Given the description of an element on the screen output the (x, y) to click on. 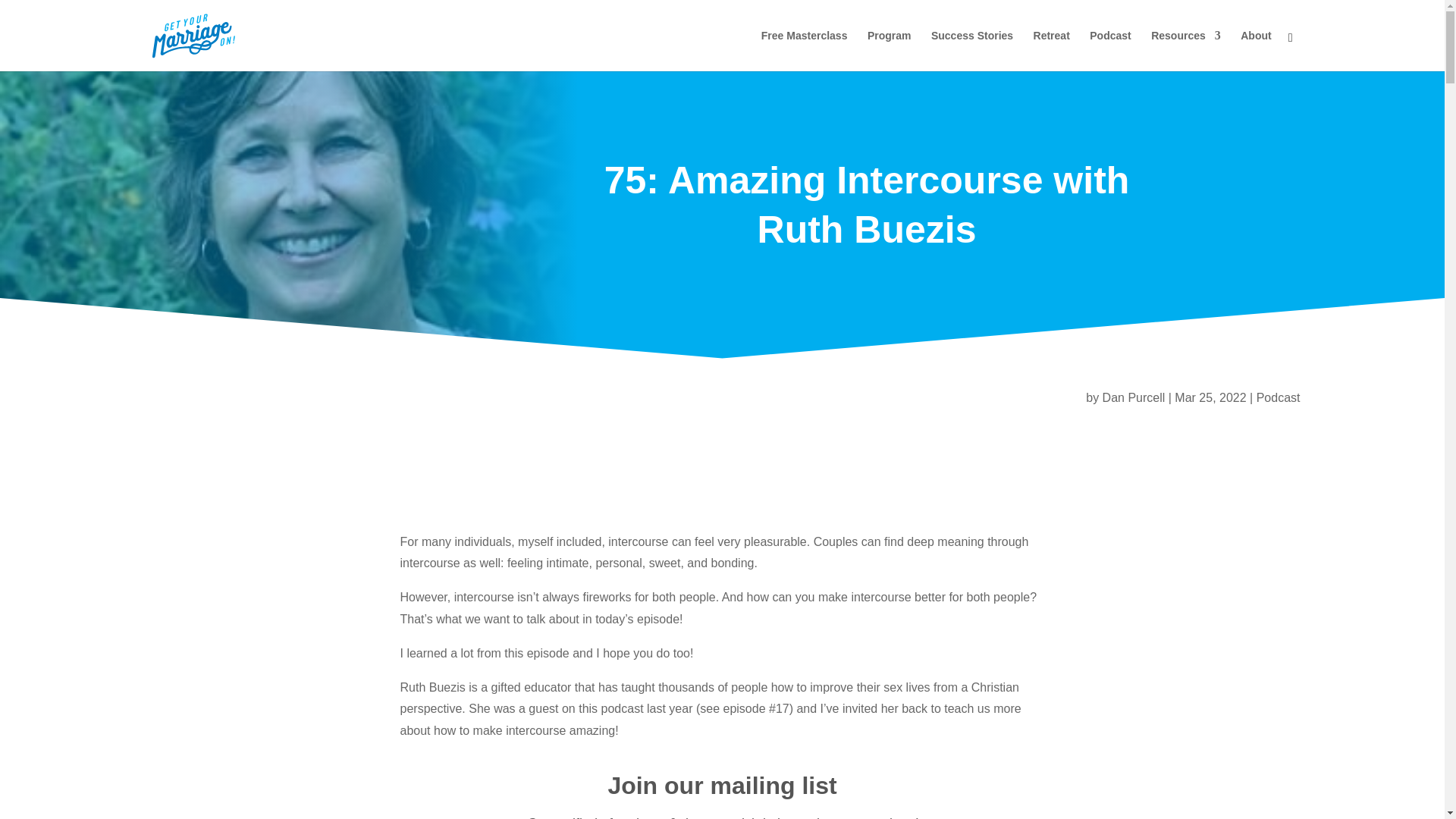
Podcast (1110, 50)
Resources (1186, 50)
Take Action Now! (320, 15)
Free Masterclass (804, 50)
Program (889, 50)
Dan Purcell (1134, 397)
Posts by Dan Purcell (1134, 397)
Success Stories (972, 50)
Libsyn Player (722, 477)
Podcast (1278, 397)
Retreat (1051, 50)
